Given the description of an element on the screen output the (x, y) to click on. 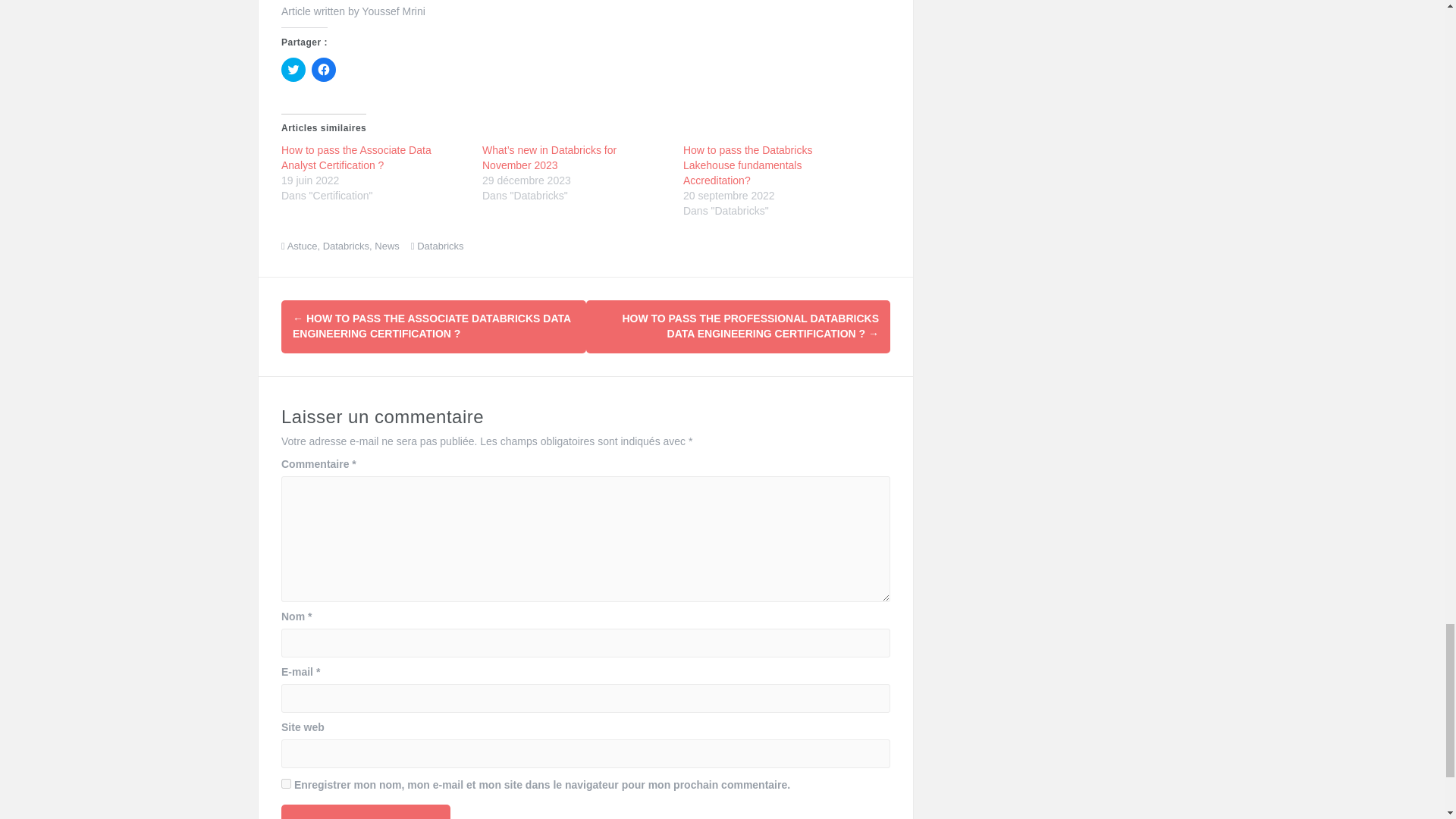
How to pass the Associate Data Analyst Certification ? (355, 157)
Astuce (301, 245)
Databricks (346, 245)
Cliquez pour partager sur Facebook (323, 69)
How to pass the Associate Data Analyst Certification ? (355, 157)
Databricks (439, 245)
yes (286, 783)
Laisser un commentaire (365, 811)
News (386, 245)
Laisser un commentaire (365, 811)
Cliquez pour partager sur Twitter (293, 69)
